Given the description of an element on the screen output the (x, y) to click on. 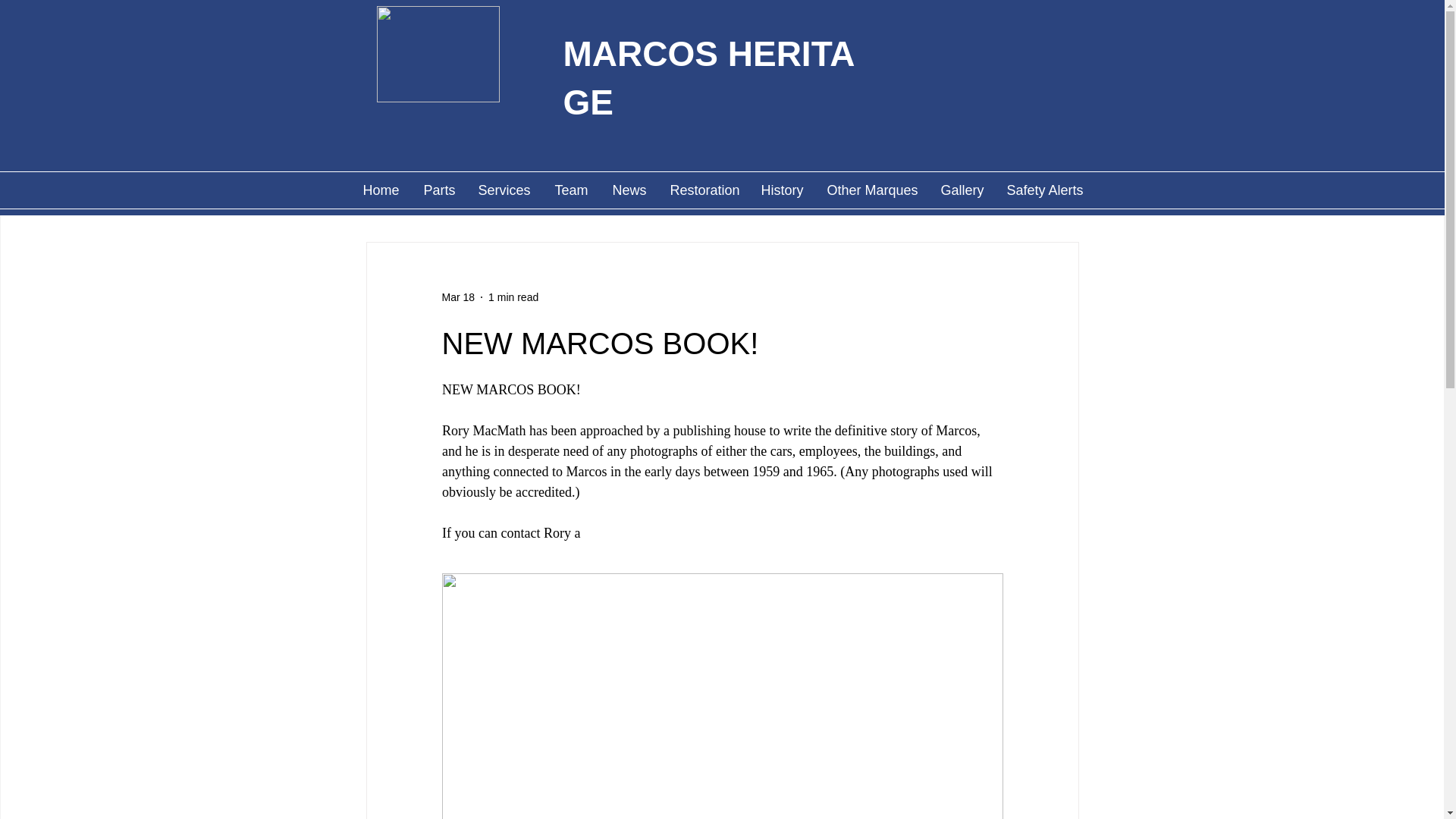
Mar 18 (457, 297)
Gallery (962, 190)
1 min read (512, 297)
Other Marques (871, 190)
News (628, 190)
Home (380, 190)
History (781, 190)
Services (504, 190)
Restoration (703, 190)
Team (571, 190)
